Given the description of an element on the screen output the (x, y) to click on. 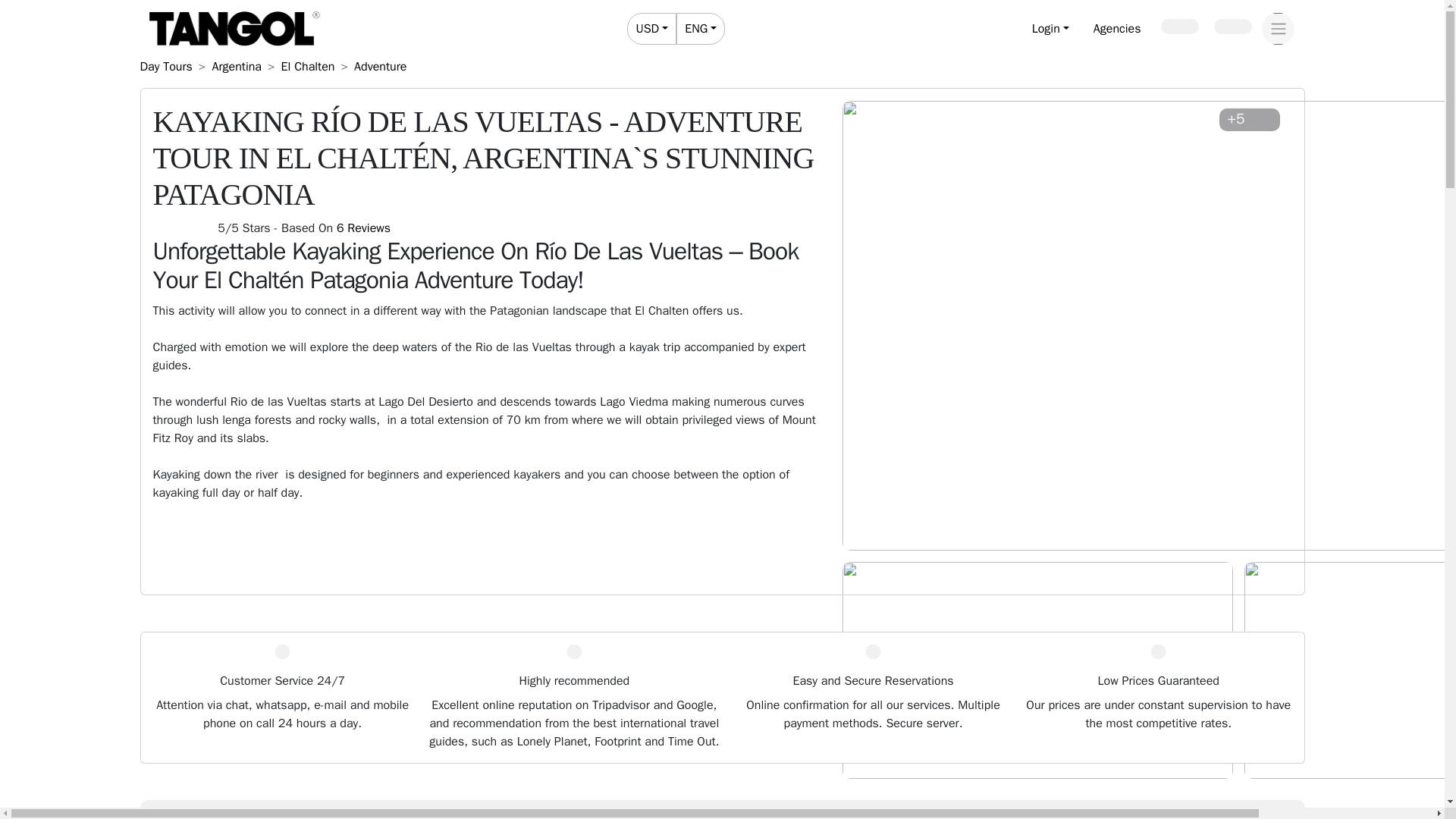
Destinations in El Chalten (307, 66)
ENG (700, 28)
Login (1050, 28)
Agencies (1117, 28)
6 Reviews (363, 227)
Argentina (236, 66)
My Cart (676, 29)
Day Tours (1231, 25)
El Chalten (165, 66)
